Given the description of an element on the screen output the (x, y) to click on. 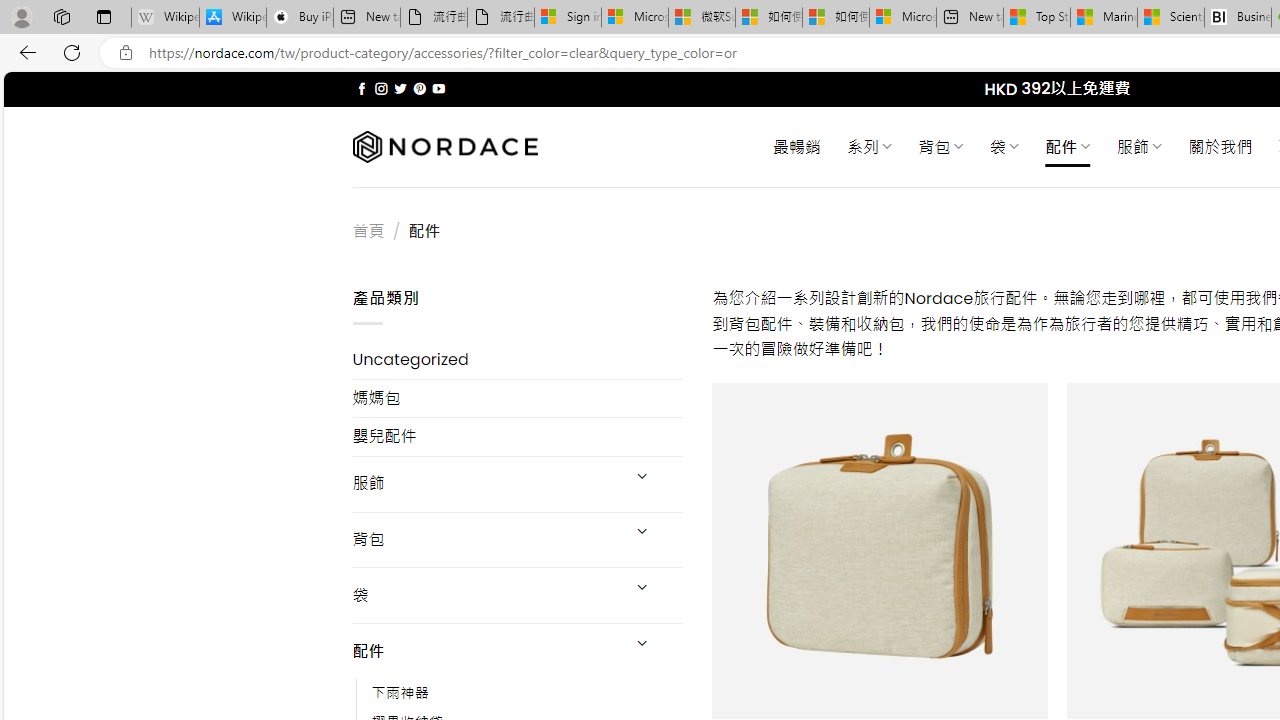
Uncategorized (517, 359)
Follow on Twitter (400, 88)
